Given the description of an element on the screen output the (x, y) to click on. 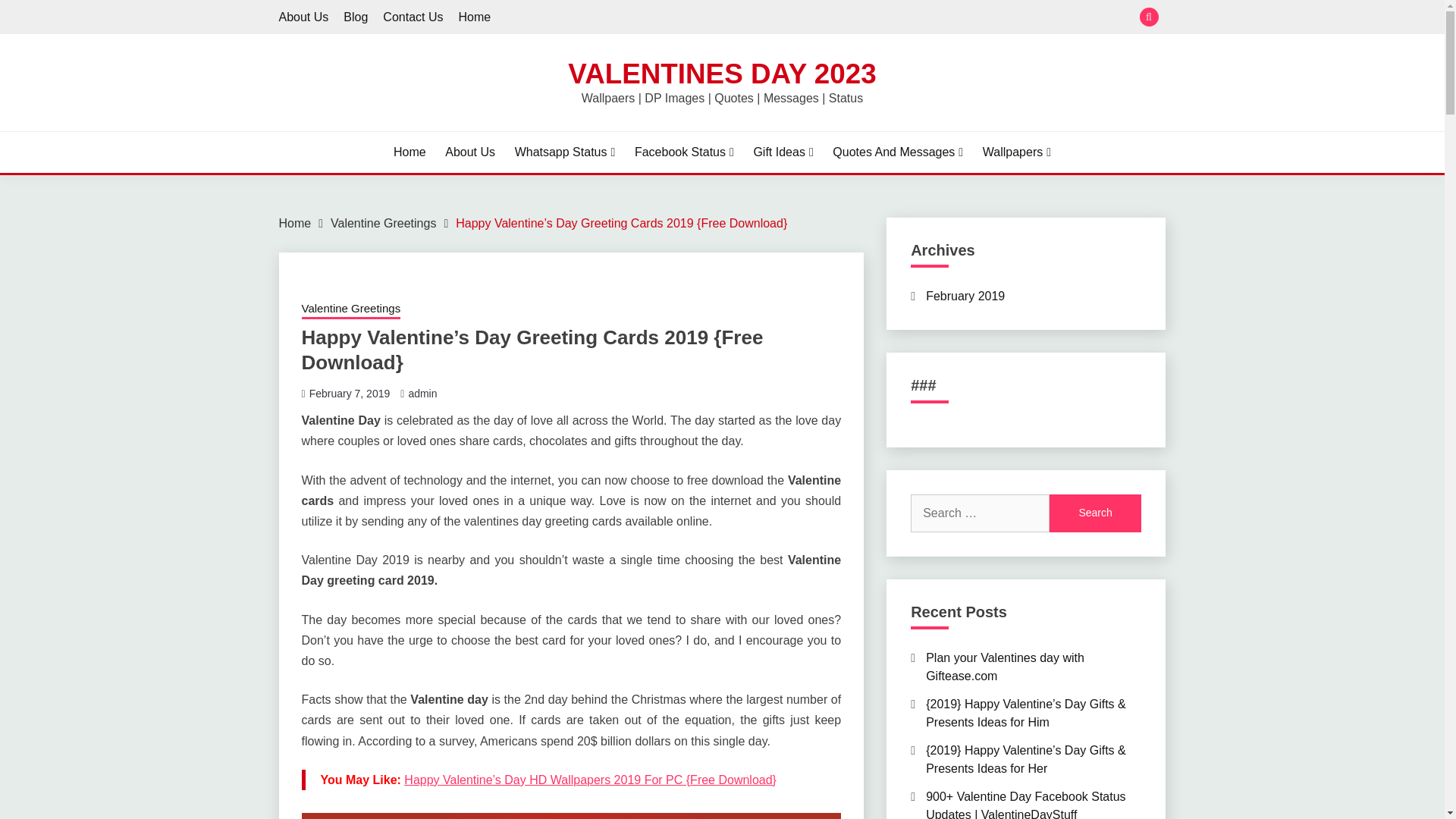
Home (409, 152)
Search (1095, 513)
Valentine Greetings (351, 310)
Facebook Status (683, 152)
February 7, 2019 (349, 393)
Search (1095, 513)
Whatsapp Status (565, 152)
VALENTINES DAY 2023 (721, 73)
Search (832, 18)
Home (474, 16)
Home (295, 223)
About Us (304, 16)
Gift Ideas (782, 152)
Quotes And Messages (897, 152)
Blog (355, 16)
